Given the description of an element on the screen output the (x, y) to click on. 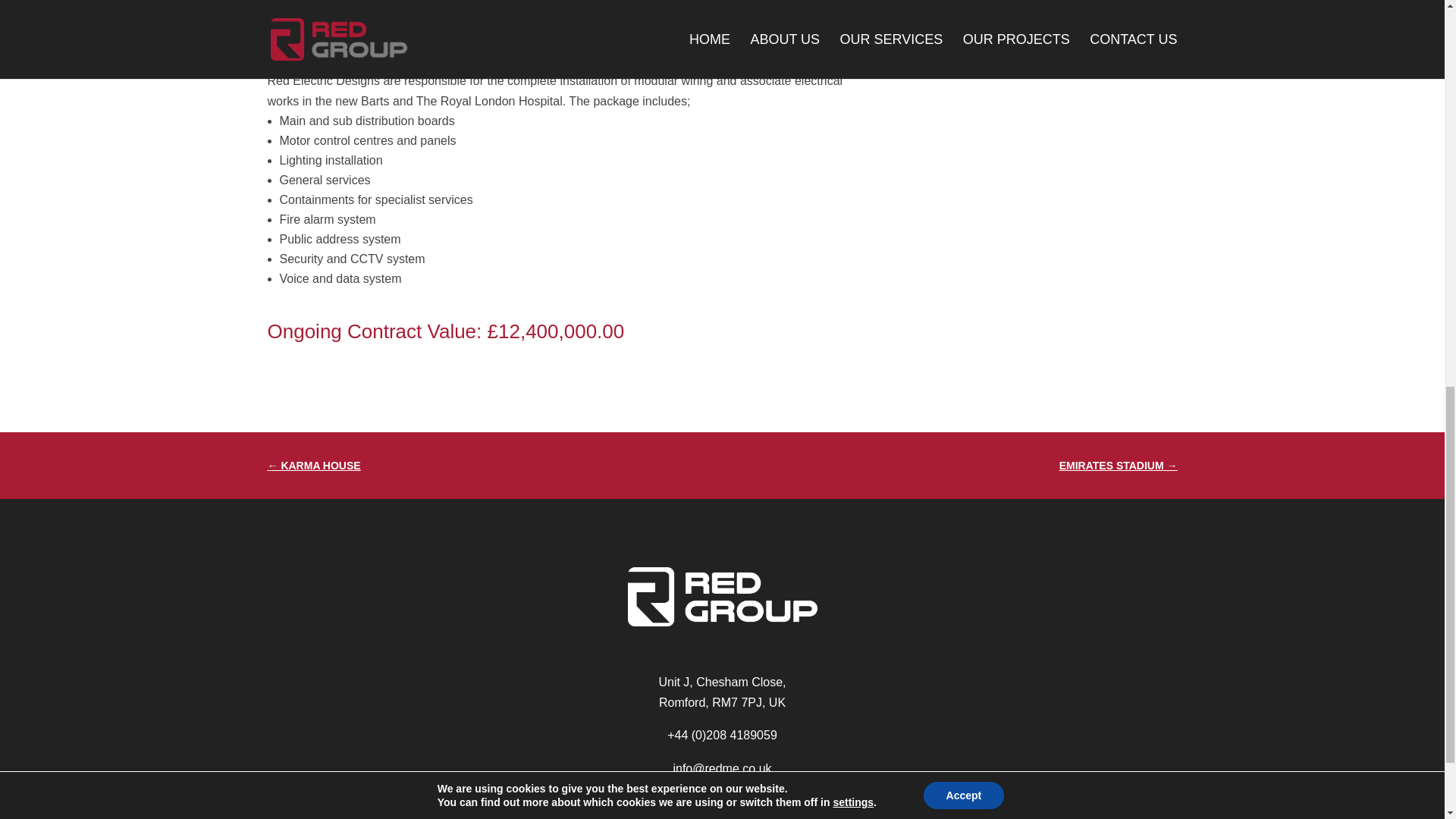
RedGroupWhite (721, 596)
